Given the description of an element on the screen output the (x, y) to click on. 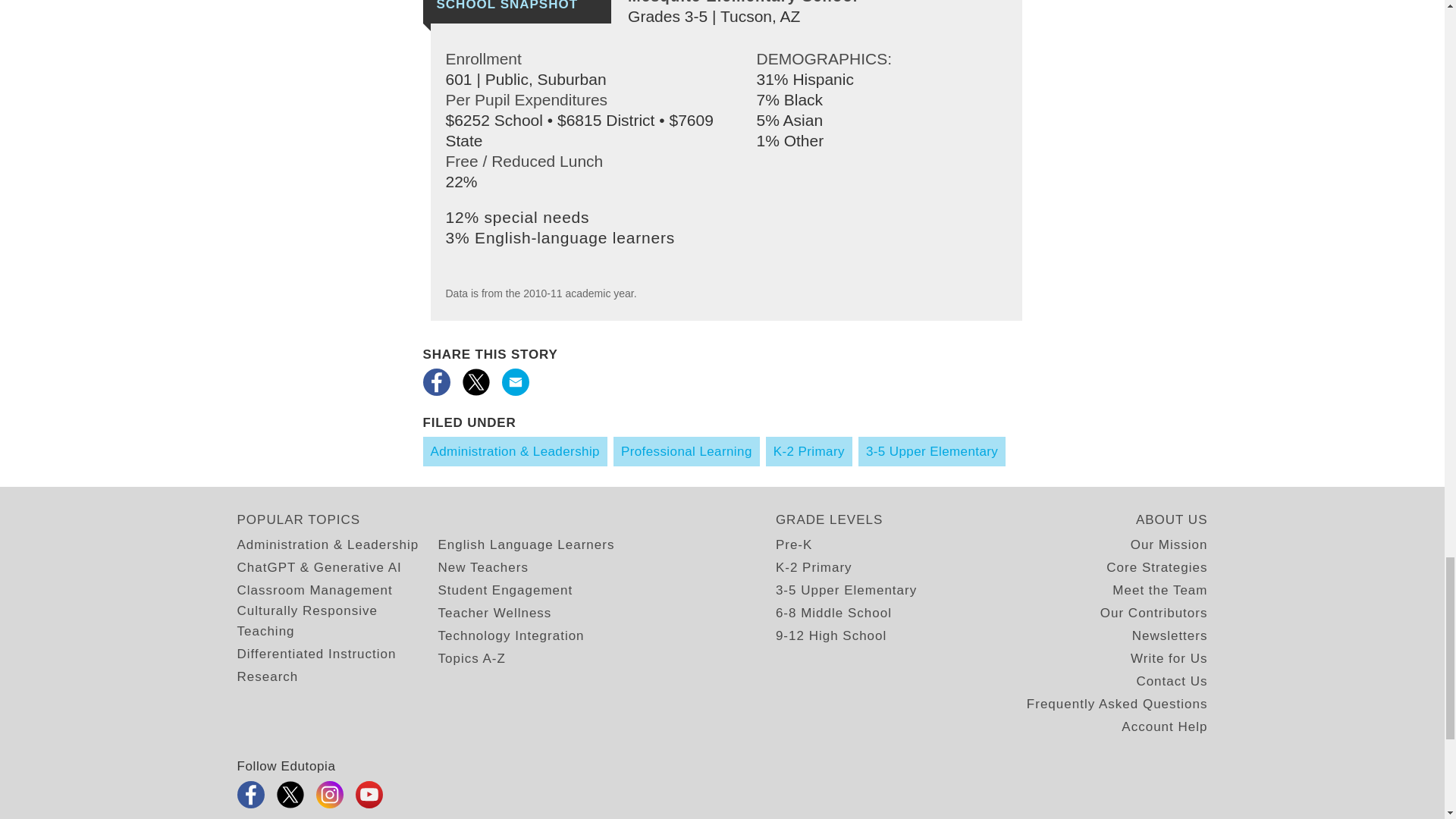
Mesquite Elementary School (743, 2)
New Teachers (483, 567)
Professional Learning (686, 451)
Differentiated Instruction (315, 653)
K-2 Primary (808, 451)
3-5 Upper Elementary (932, 451)
English Language Learners (526, 544)
Research (266, 676)
Classroom Management (313, 589)
Culturally Responsive Teaching (336, 620)
